Given the description of an element on the screen output the (x, y) to click on. 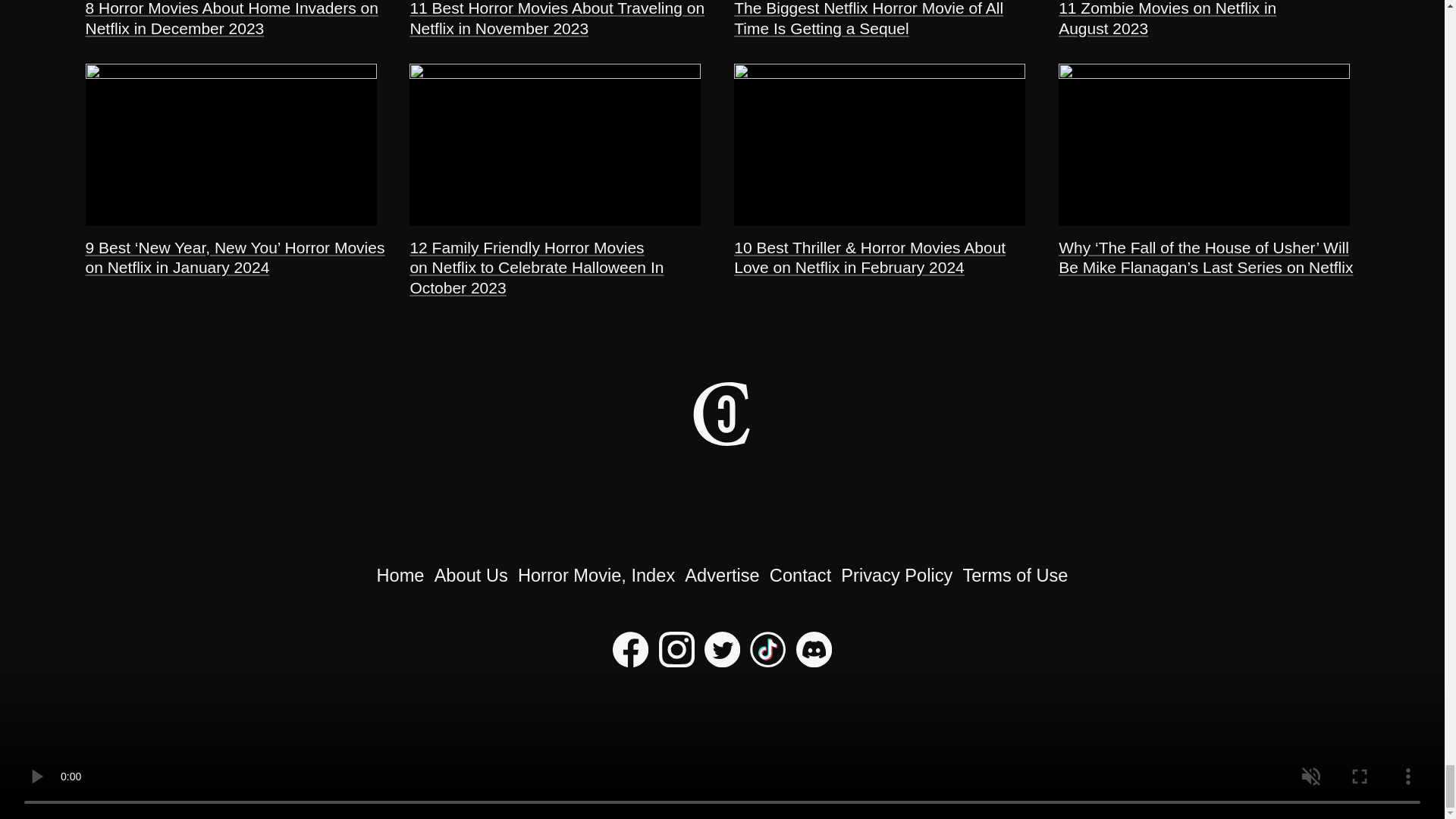
Discord (813, 660)
Facebook (629, 660)
Instagram (676, 660)
Twitter (721, 660)
TikTok (767, 660)
